Given the description of an element on the screen output the (x, y) to click on. 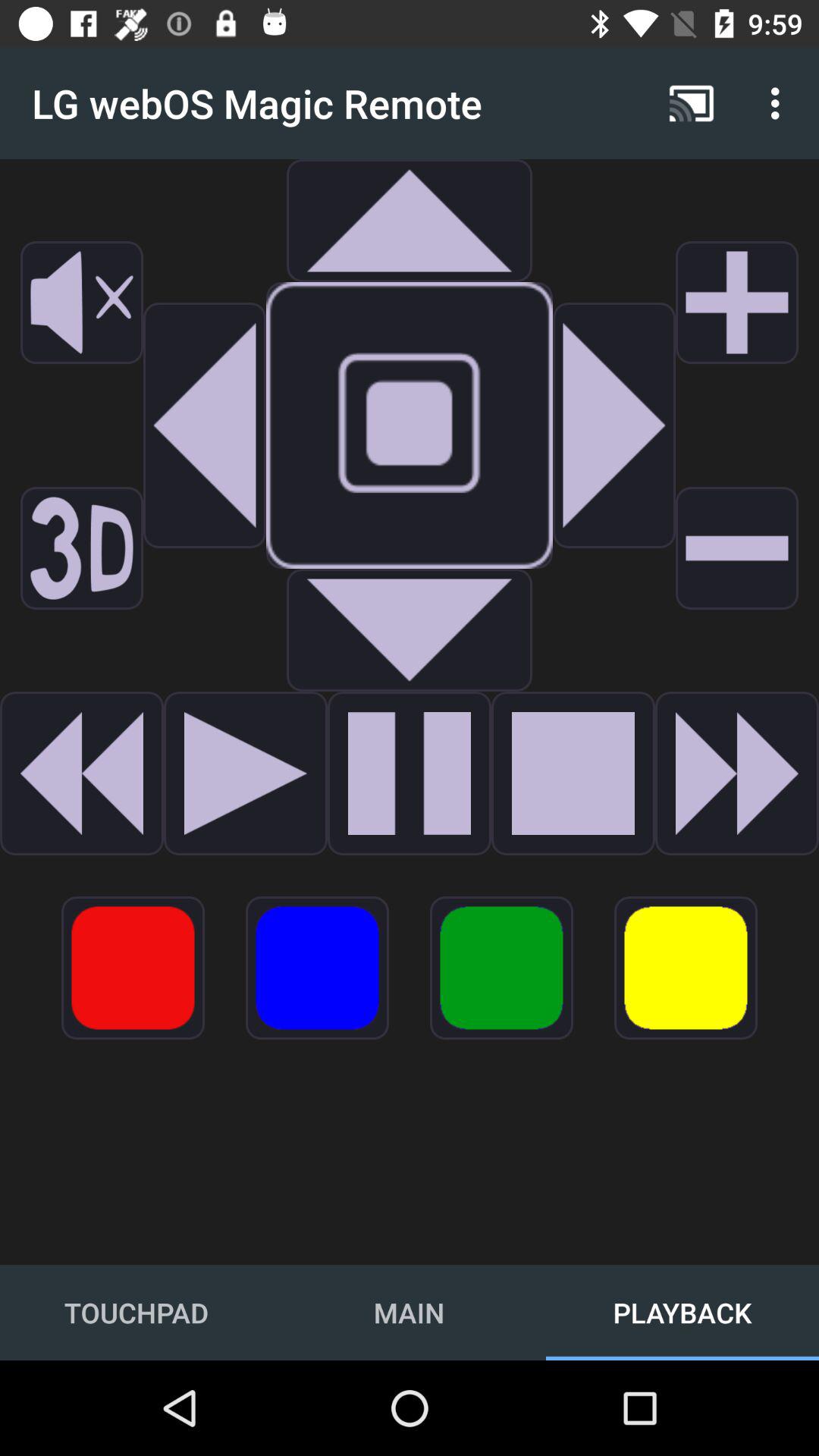
play option (245, 773)
